Given the description of an element on the screen output the (x, y) to click on. 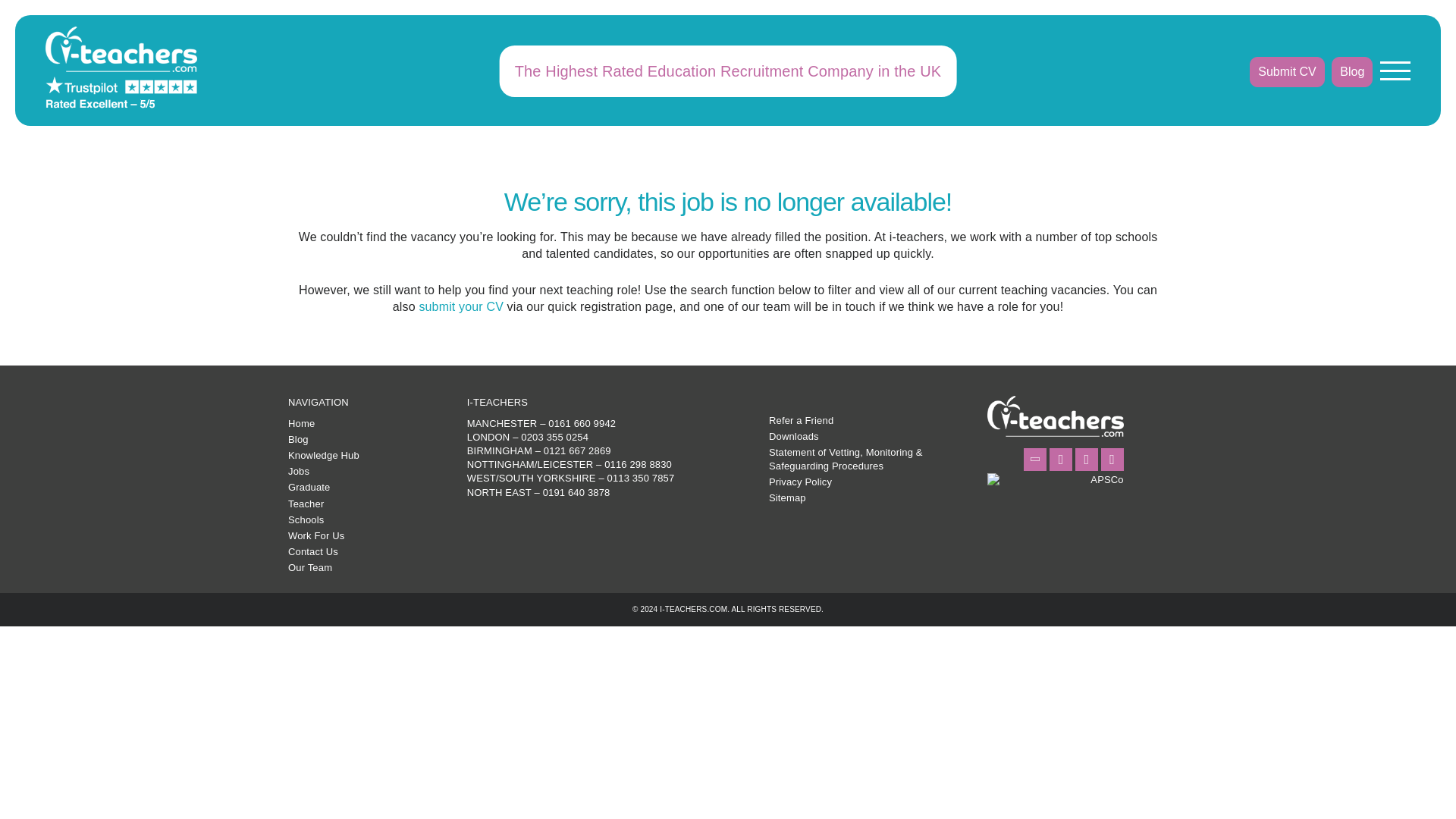
Blog (298, 439)
Home (301, 423)
Knowledge Hub (323, 455)
Downloads (793, 436)
Graduate (309, 487)
Our Team (309, 567)
Privacy Policy (799, 481)
Contact Us (312, 551)
submit your CV (461, 306)
The Highest Rated Education Recruitment Company in the UK (728, 71)
